Given the description of an element on the screen output the (x, y) to click on. 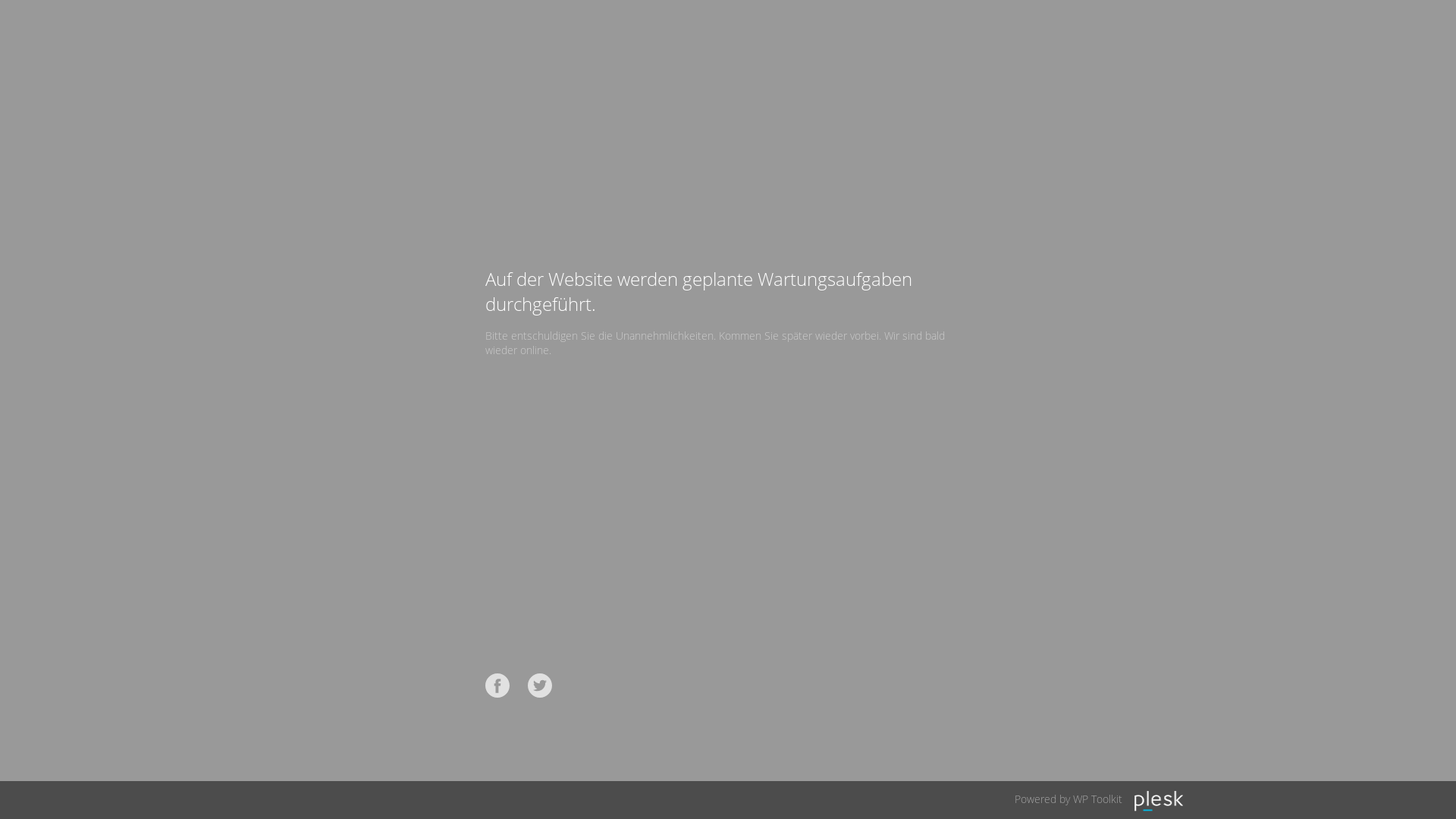
Twitter Element type: hover (539, 685)
Facebook Element type: hover (497, 685)
